Given the description of an element on the screen output the (x, y) to click on. 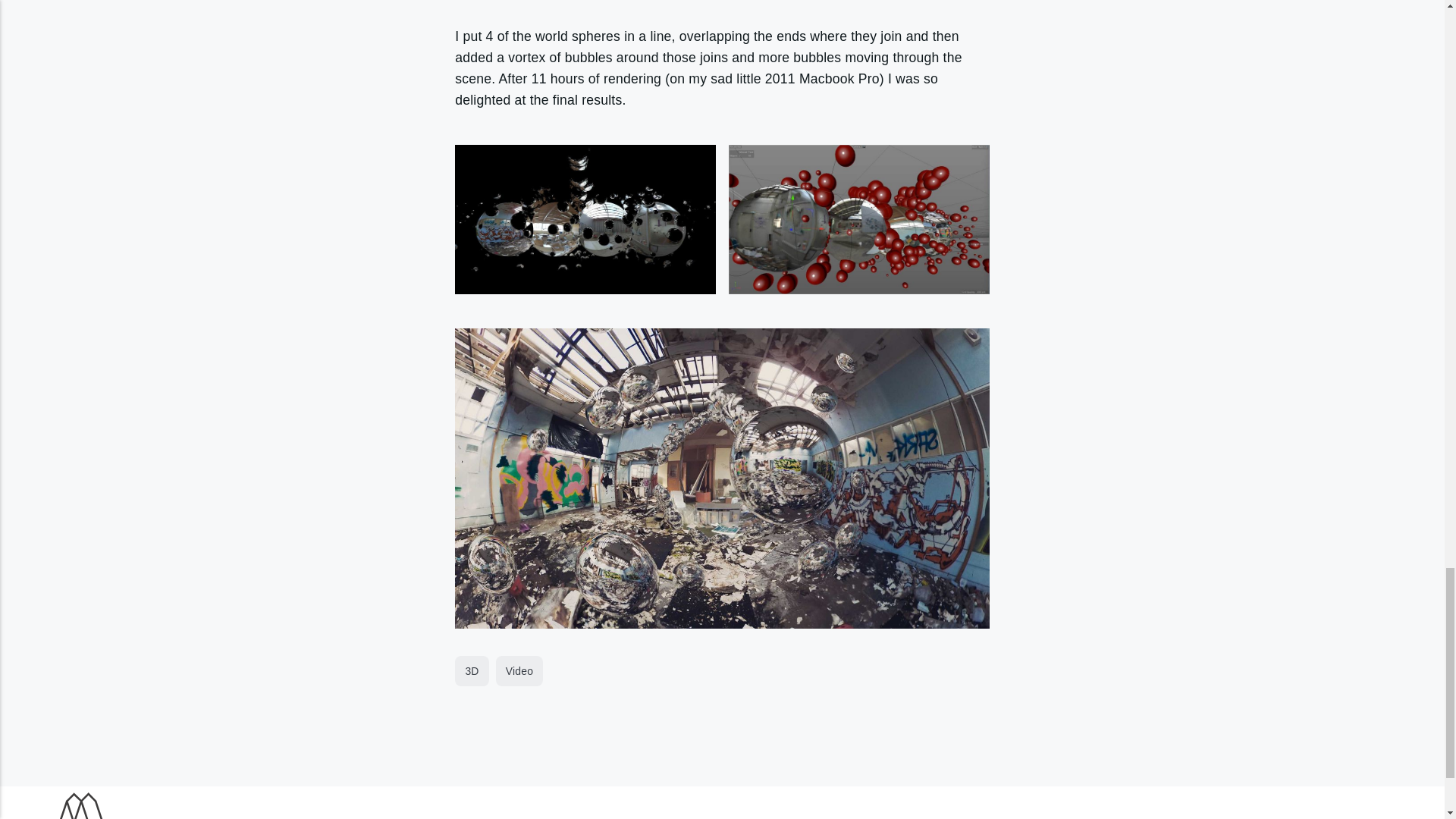
Video (519, 671)
3D (471, 671)
